Given the description of an element on the screen output the (x, y) to click on. 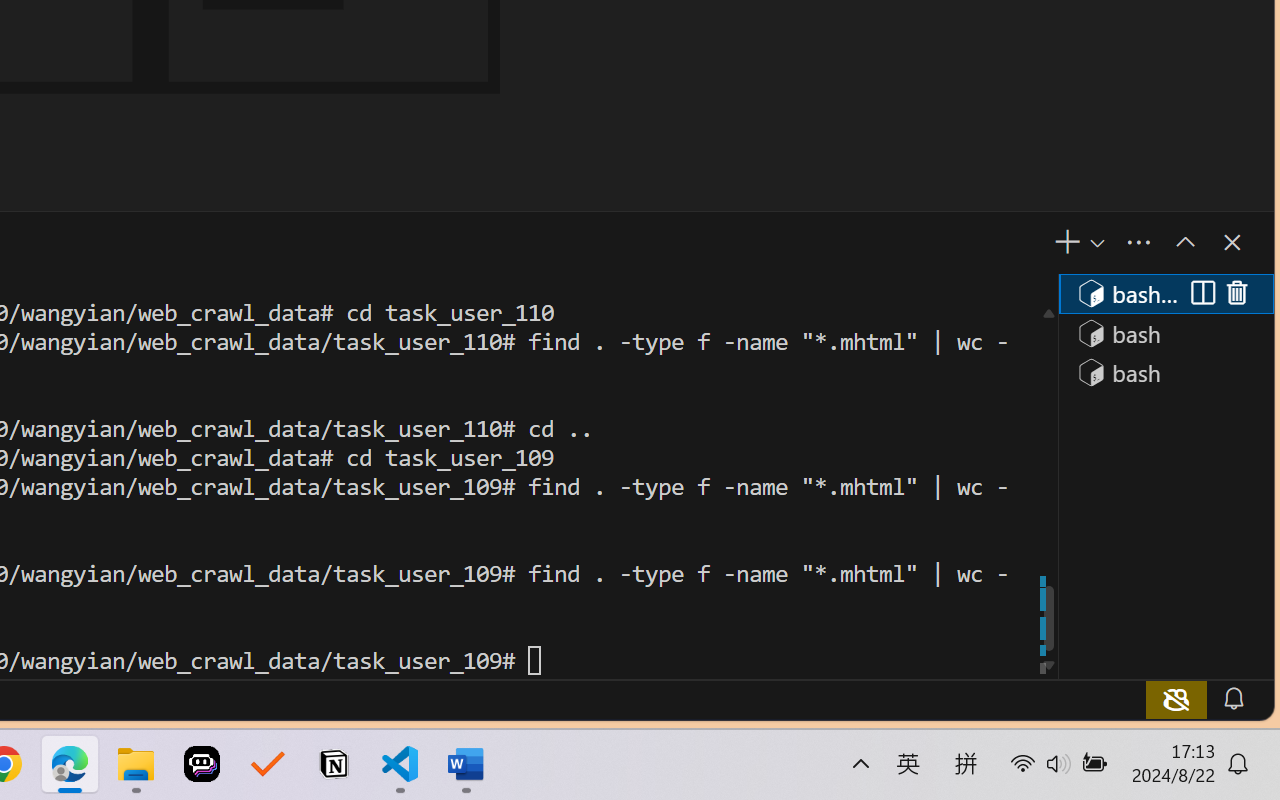
Kill (Delete) (1236, 293)
Class: actions-container (1217, 293)
Notifications (1232, 698)
Terminal 3 bash (1165, 372)
Launch Profile... (1096, 243)
Class: xterm-decoration-overview-ruler (1047, 486)
Maximize Panel Size (1183, 242)
Split (Ctrl+Shift+5) (1199, 293)
Close Panel (1230, 242)
copilot-notconnected, Copilot error (click for details) (1175, 698)
Terminal 2 bash (1165, 332)
Views and More Actions... (1137, 243)
Terminal 1 bash (1165, 292)
